Given the description of an element on the screen output the (x, y) to click on. 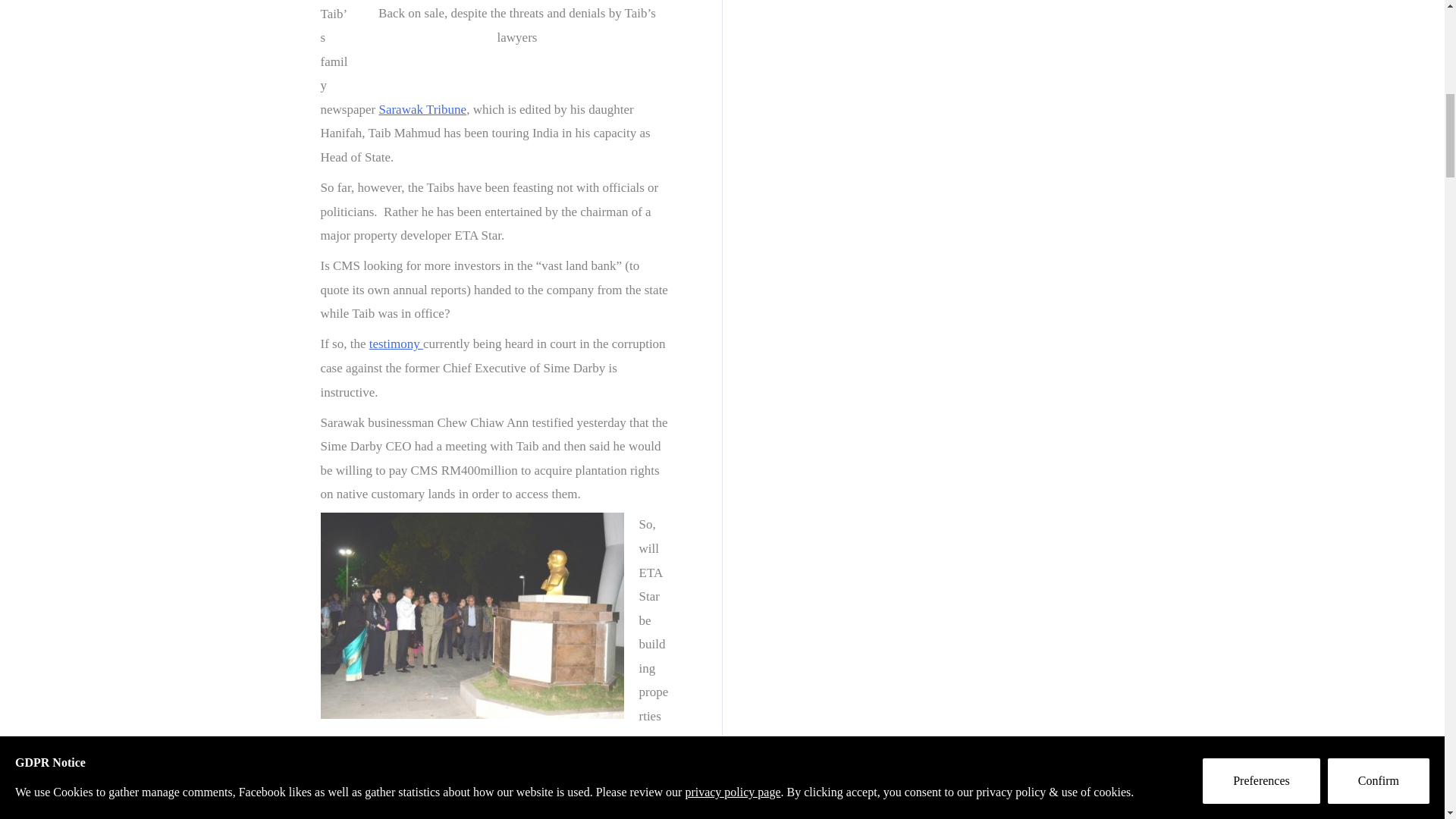
Advertisement (868, 48)
